Given the description of an element on the screen output the (x, y) to click on. 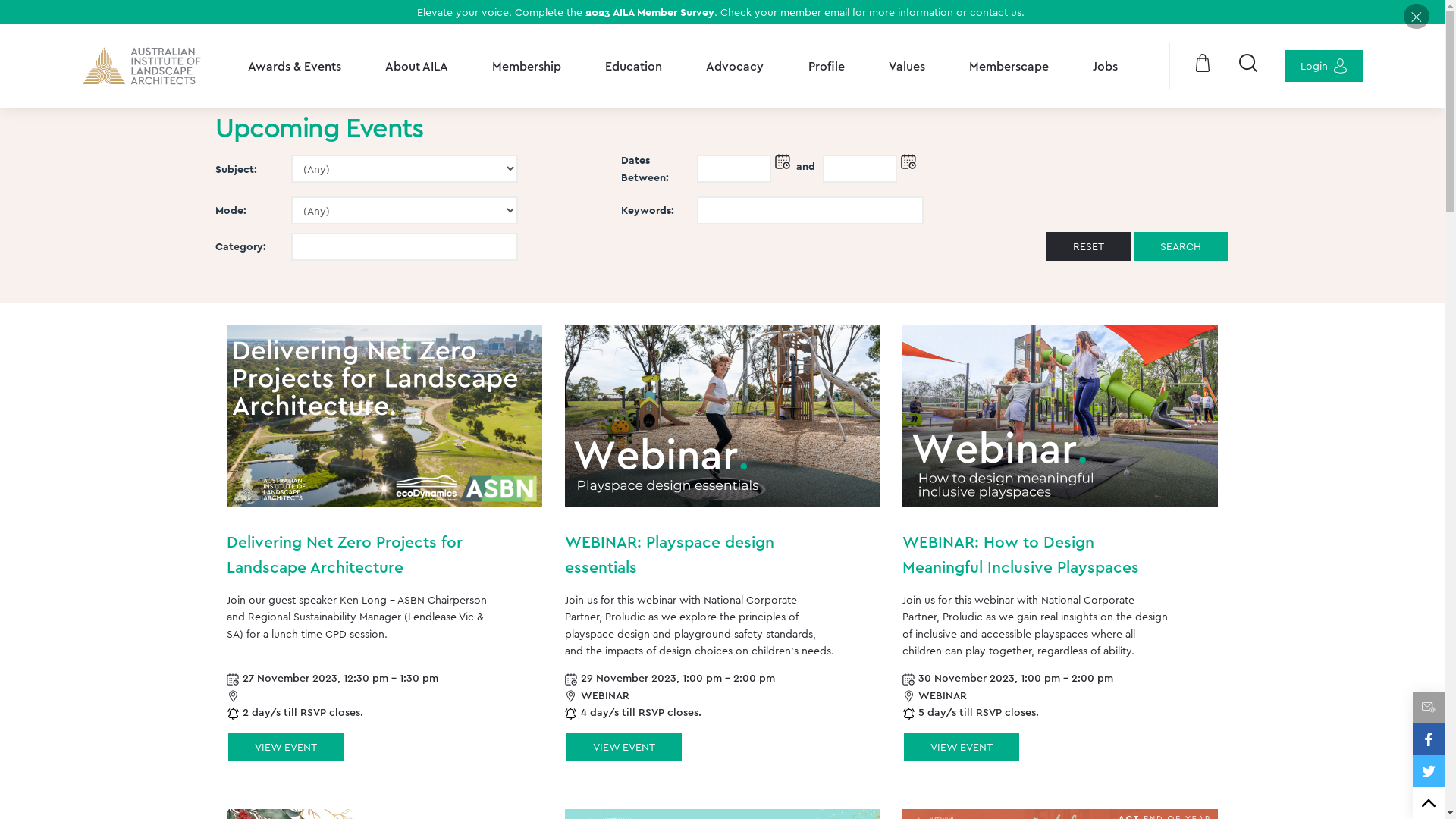
RESET Element type: text (1088, 246)
REGISTER Element type: text (285, 746)
REGISTER Element type: text (623, 746)
SEARCH Element type: text (1180, 246)
WEBINAR: Playspace design essentials Element type: hover (722, 415)
Cart Element type: text (1202, 65)
Education Element type: text (633, 65)
About AILA Element type: text (416, 65)
Advocacy Element type: text (734, 65)
Home Element type: text (142, 65)
REGISTER Element type: text (961, 746)
Profile Element type: text (826, 65)
Jobs Element type: text (1104, 65)
WEBINAR: How to Design Meaningful Inclusive Playspaces Element type: hover (1059, 415)
Values Element type: text (906, 65)
Delivering Net Zero Projects for Landscape Architecture Element type: hover (384, 415)
Login Element type: text (1322, 65)
Search Element type: text (1247, 65)
Awards & Events Element type: text (294, 65)
Membership Element type: text (526, 65)
contact us Element type: text (995, 11)
Memberscape Element type: text (1008, 65)
